Given the description of an element on the screen output the (x, y) to click on. 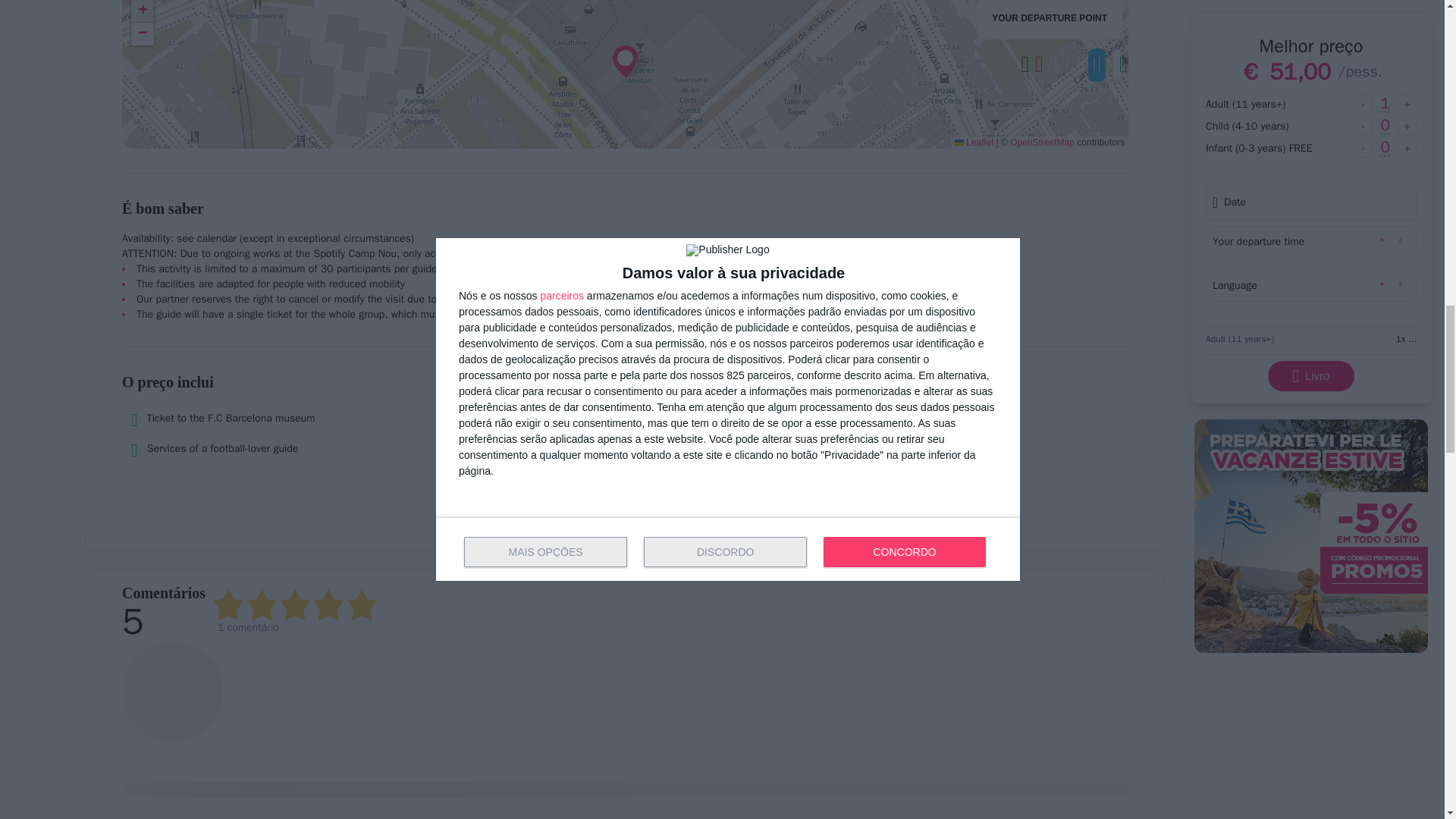
A JavaScript library for interactive maps (973, 142)
Zoom in (142, 11)
Zoom out (142, 33)
